Given the description of an element on the screen output the (x, y) to click on. 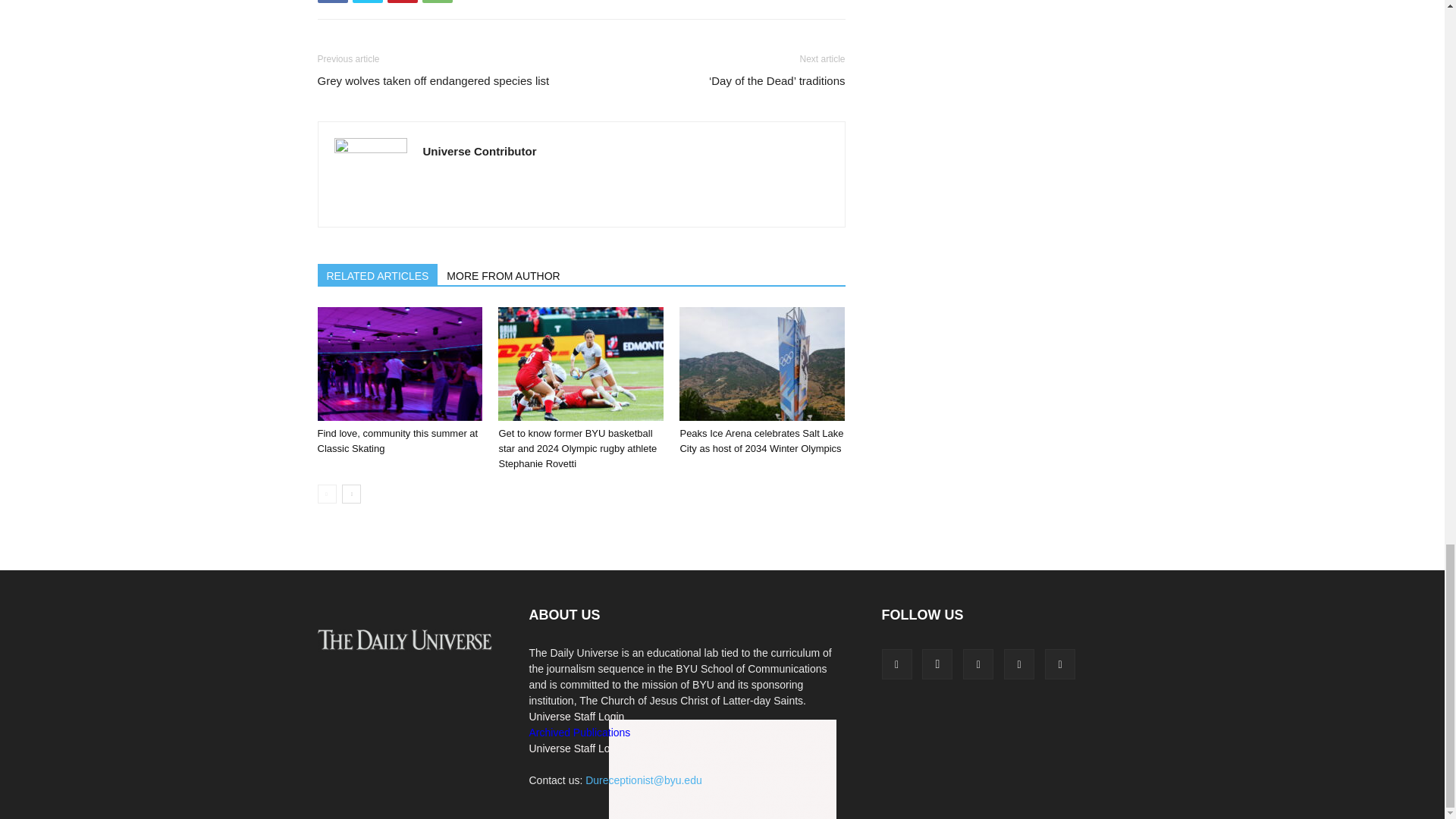
Twitter (366, 1)
Find love, community this summer at Classic Skating (399, 363)
Facebook (332, 1)
WhatsApp (436, 1)
Pinterest (401, 1)
